Given the description of an element on the screen output the (x, y) to click on. 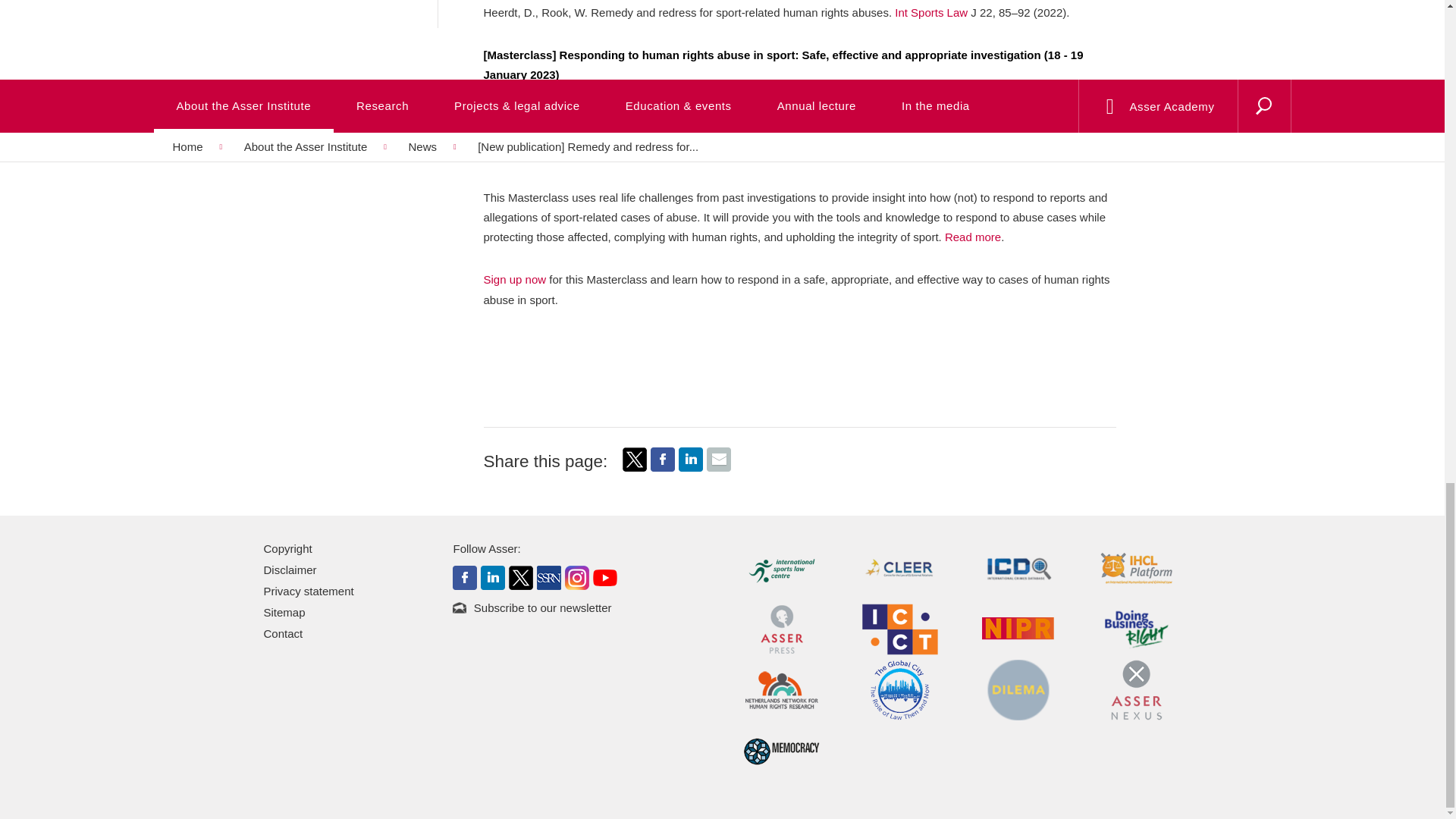
Follow us on Twitter (520, 576)
Follow us on YouTube (604, 576)
LinkedIn (690, 459)
Asser Press (781, 627)
Facebook (662, 467)
International Crimes Database (1018, 567)
Tweet (634, 459)
Follow us on LinkedIn (492, 576)
Cleer (899, 567)
Follow us on Instagram (576, 576)
Email (718, 459)
Like us on Facebook (464, 576)
LinkedIn (690, 467)
IHCL Platform (1136, 567)
Tweet (634, 467)
